Given the description of an element on the screen output the (x, y) to click on. 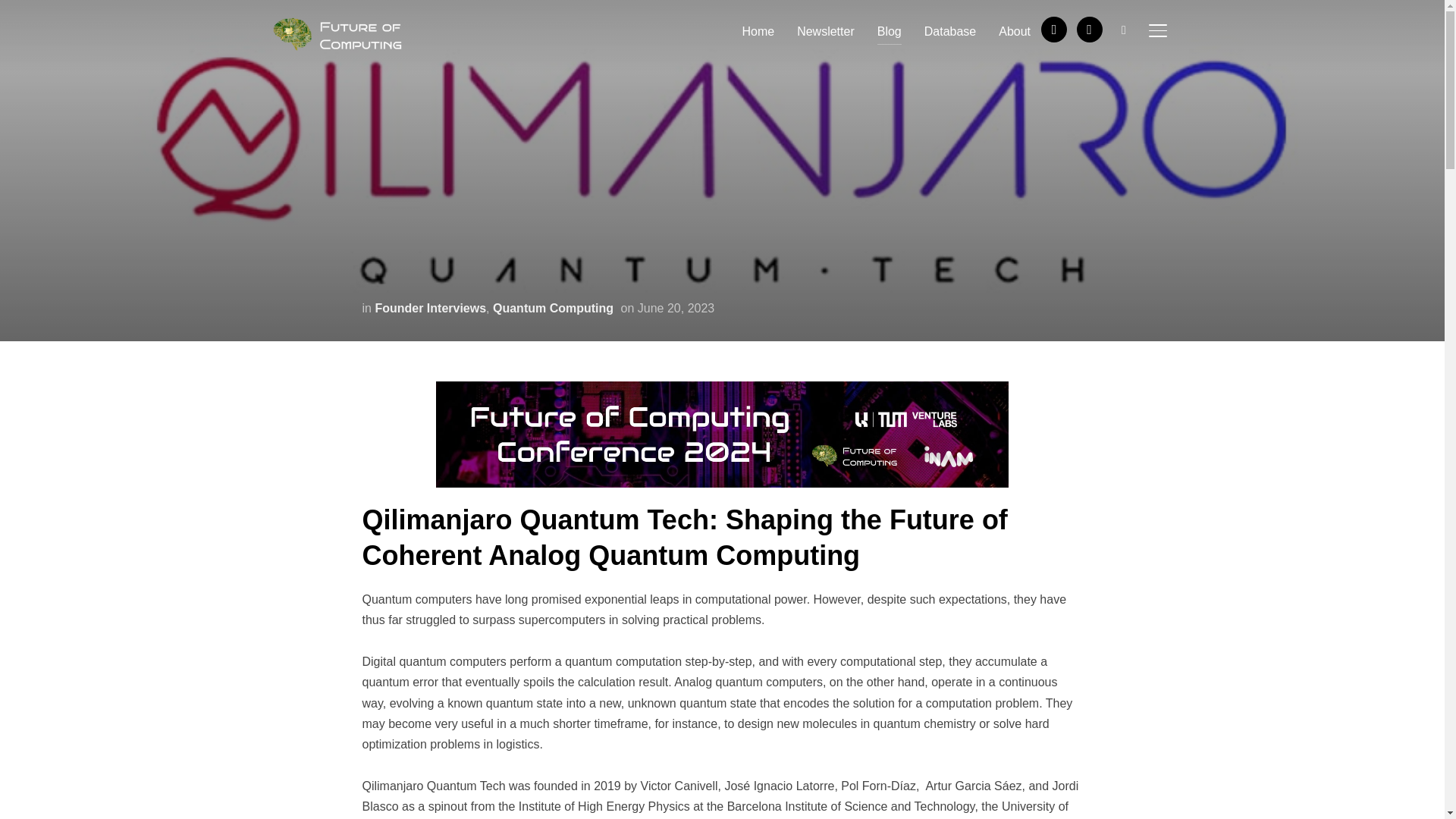
Search (15, 15)
About (1014, 31)
Founder Interviews (430, 308)
FuCon2024-Banner (722, 391)
x (1089, 28)
Qilimanjaro Quantum Tech (433, 785)
Victor Canivell (678, 785)
Newsletter (825, 31)
Home (757, 31)
Quantum Computing (552, 308)
Jordi Blasco (720, 796)
linkedin (1054, 28)
Blog (889, 31)
X (1089, 28)
Database (950, 31)
